Given the description of an element on the screen output the (x, y) to click on. 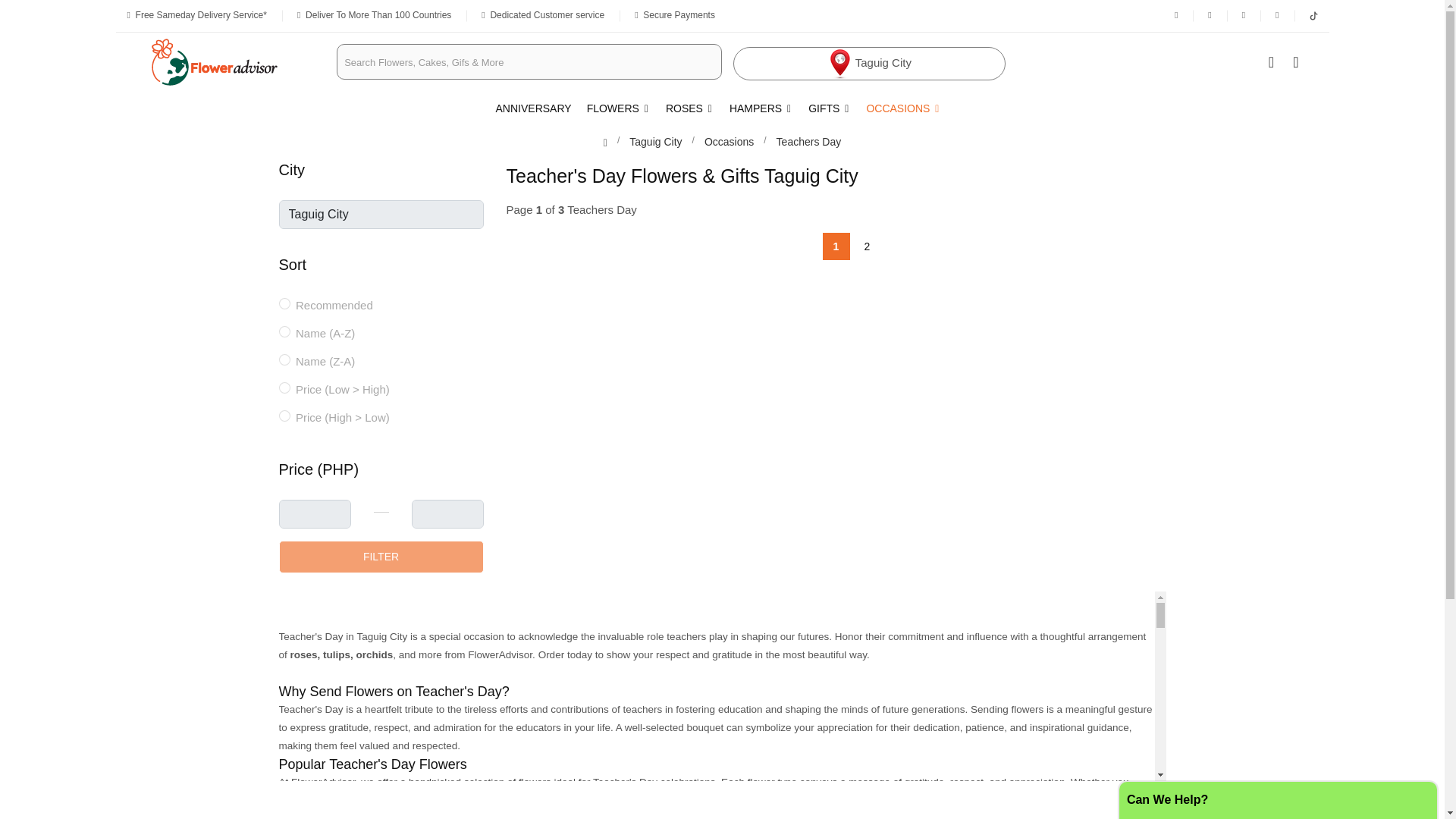
ei10by1h (284, 359)
ANNIVERSARY (537, 108)
YS10by16 (284, 331)
FLOWERS (618, 108)
